Given the description of an element on the screen output the (x, y) to click on. 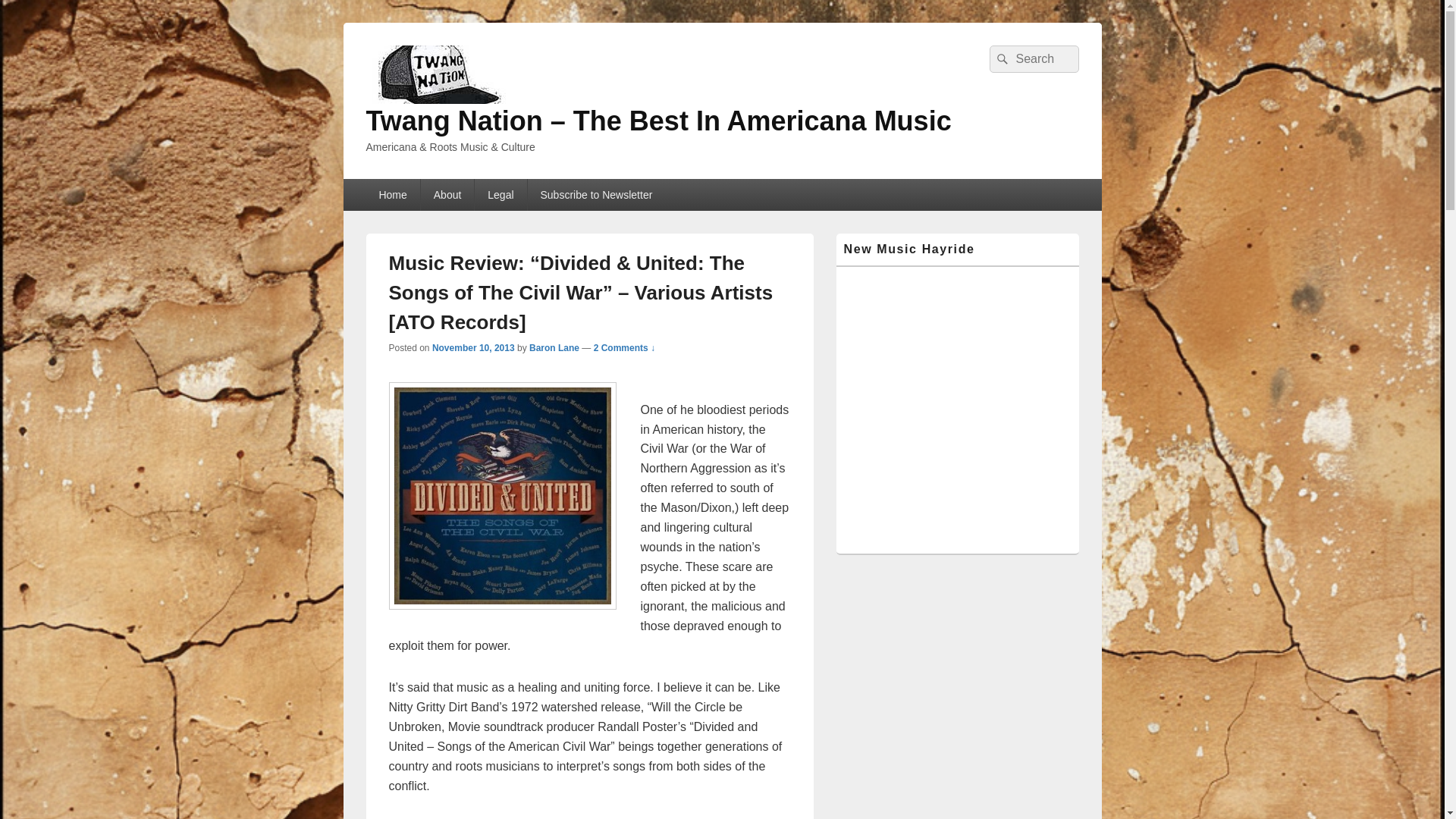
Search for: (1033, 58)
About (447, 194)
November 10, 2013 (473, 347)
View all posts by Baron Lane (554, 347)
7:12 pm (473, 347)
Baron Lane (554, 347)
Subscribe to Newsletter (596, 194)
Legal (499, 194)
Home (392, 194)
